Given the description of an element on the screen output the (x, y) to click on. 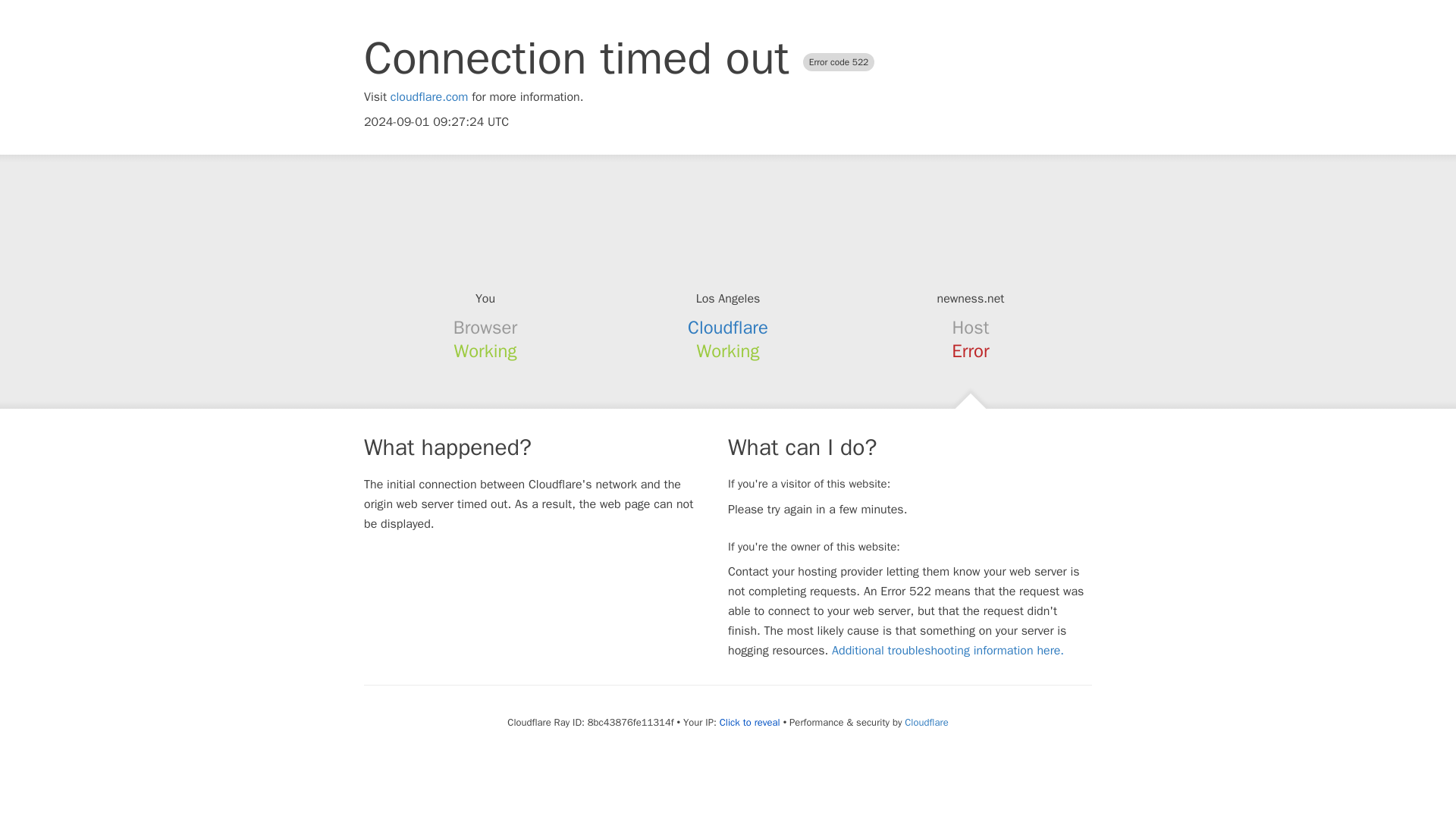
Cloudflare (727, 327)
Additional troubleshooting information here. (947, 650)
Click to reveal (749, 722)
cloudflare.com (429, 96)
Cloudflare (925, 721)
